Given the description of an element on the screen output the (x, y) to click on. 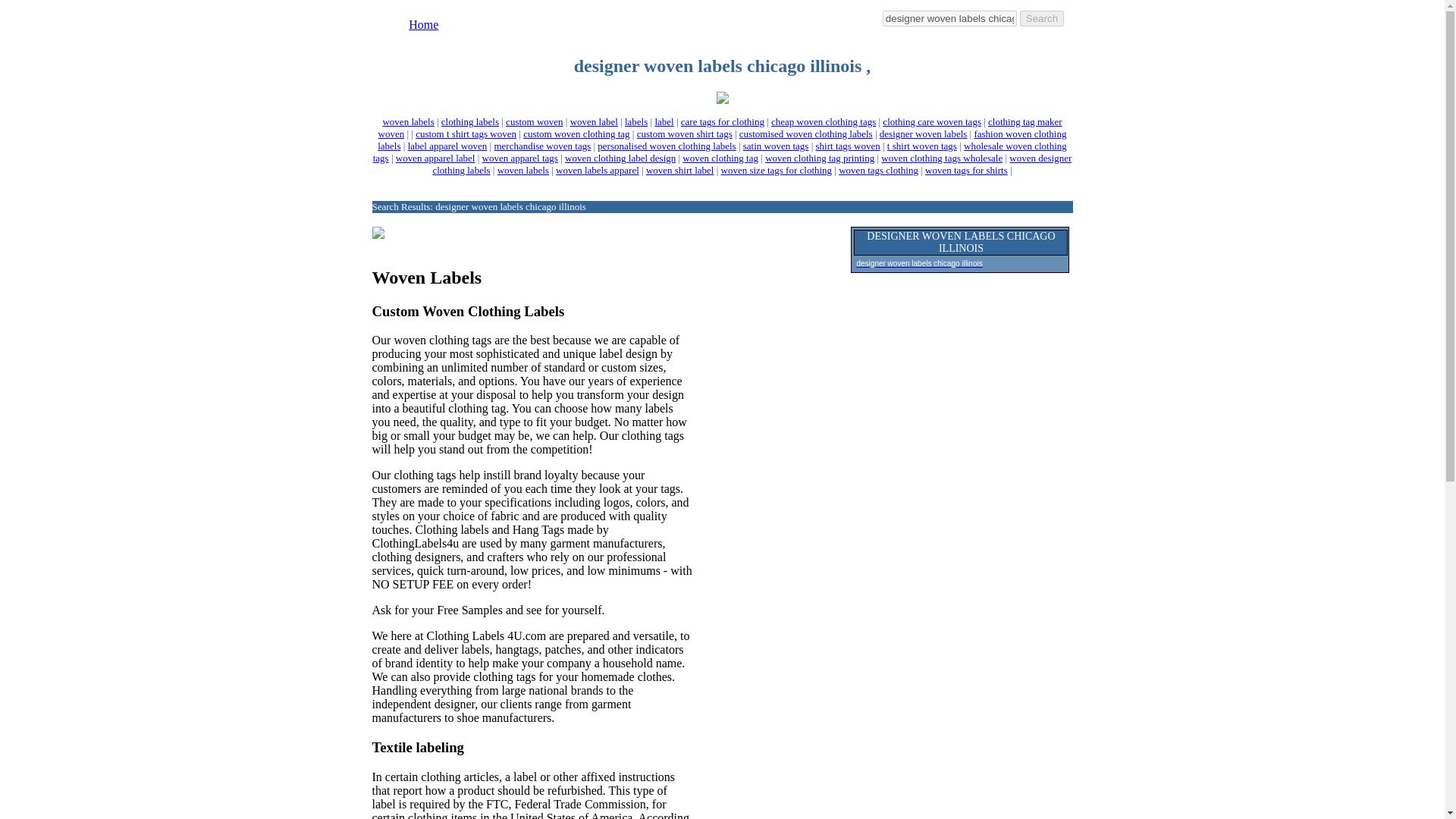
designer woven labels (923, 133)
woven designer clothing labels (751, 164)
customised woven clothing labels (805, 133)
care tags for clothing (722, 121)
woven apparel label (436, 157)
Home (423, 24)
fashion woven clothing labels (721, 139)
wholesale woven clothing tags (719, 151)
woven clothing tag printing (820, 157)
designer woven labels chicago illinois (949, 18)
woven labels apparel (597, 170)
woven labels (522, 170)
woven clothing tags wholesale (941, 157)
woven apparel tags (519, 157)
custom woven (533, 121)
